Given the description of an element on the screen output the (x, y) to click on. 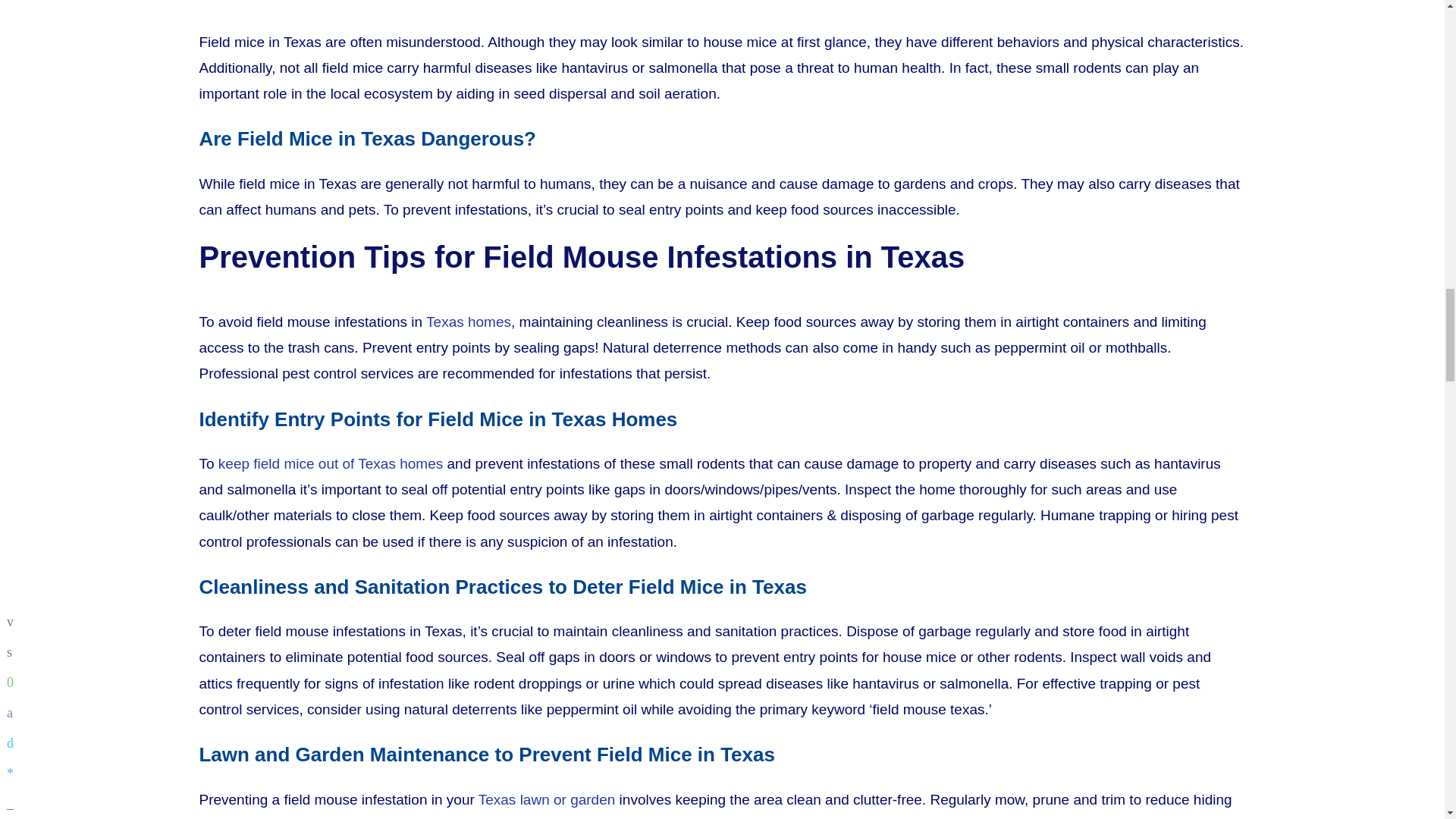
Texas homes (468, 321)
Texas lawn or garden (547, 799)
keep field mice out of Texas homes (330, 463)
